Given the description of an element on the screen output the (x, y) to click on. 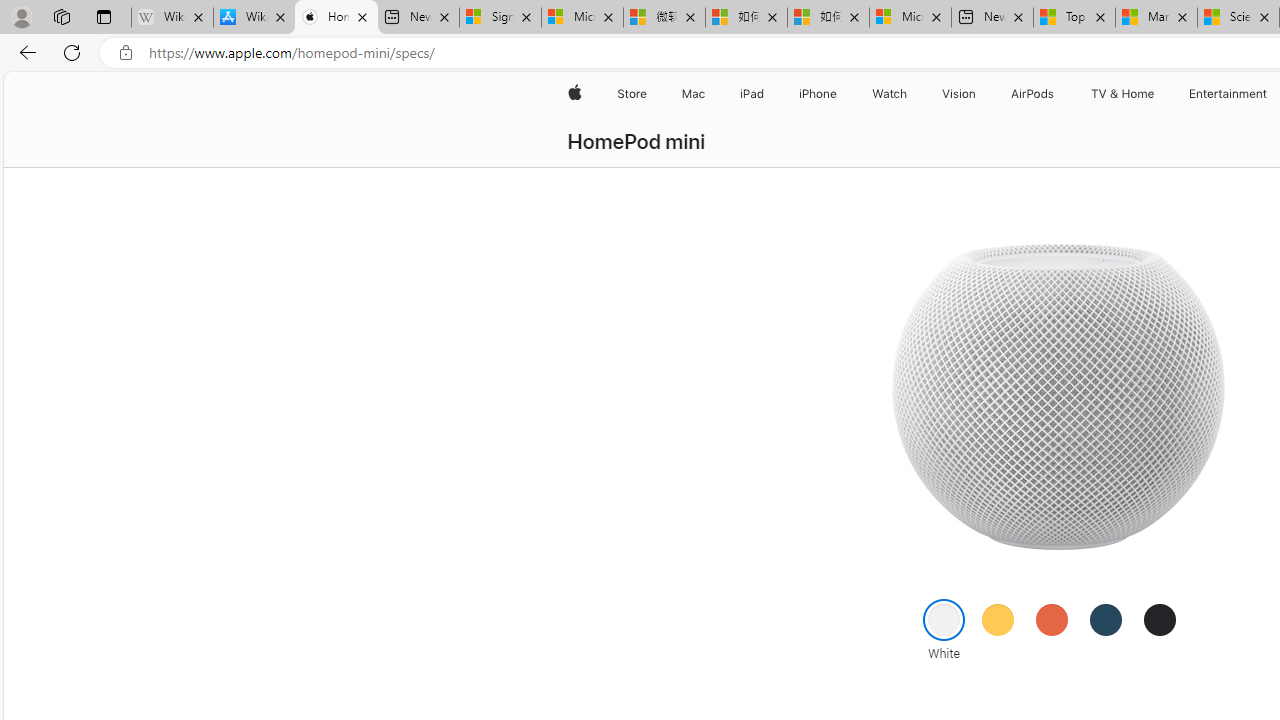
HomePod mini (636, 142)
Mac menu (708, 93)
iPad (750, 93)
AirPods menu (1058, 93)
TV and Home menu (1157, 93)
Store menu (649, 93)
Store (631, 93)
iPad (750, 93)
Yellow (997, 619)
